Given the description of an element on the screen output the (x, y) to click on. 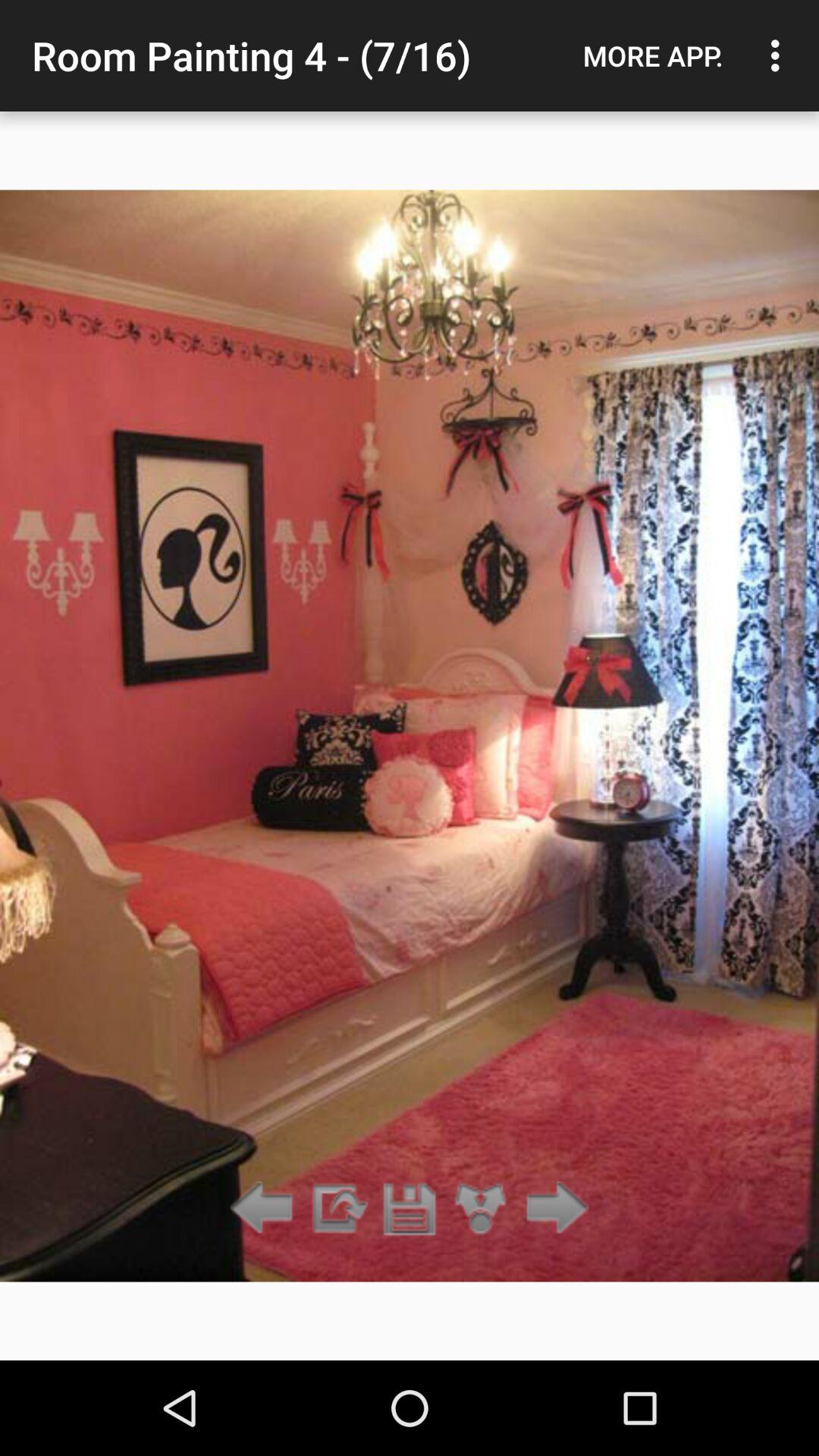
click icon to the right of the room painting 4 (653, 55)
